Given the description of an element on the screen output the (x, y) to click on. 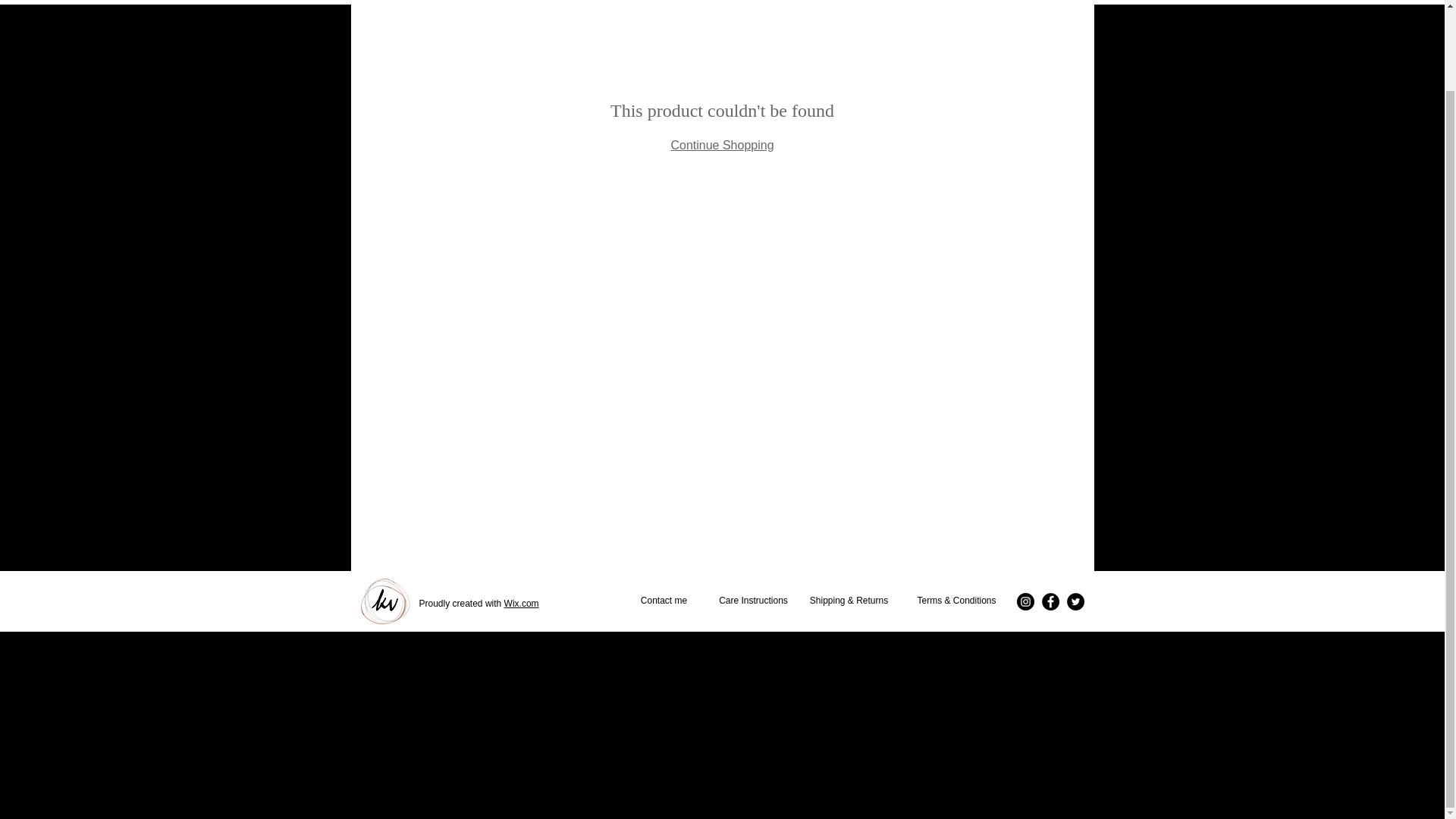
Contact me (663, 601)
Wix.com (520, 603)
Care Instructions (752, 601)
Continue Shopping (721, 144)
